Given the description of an element on the screen output the (x, y) to click on. 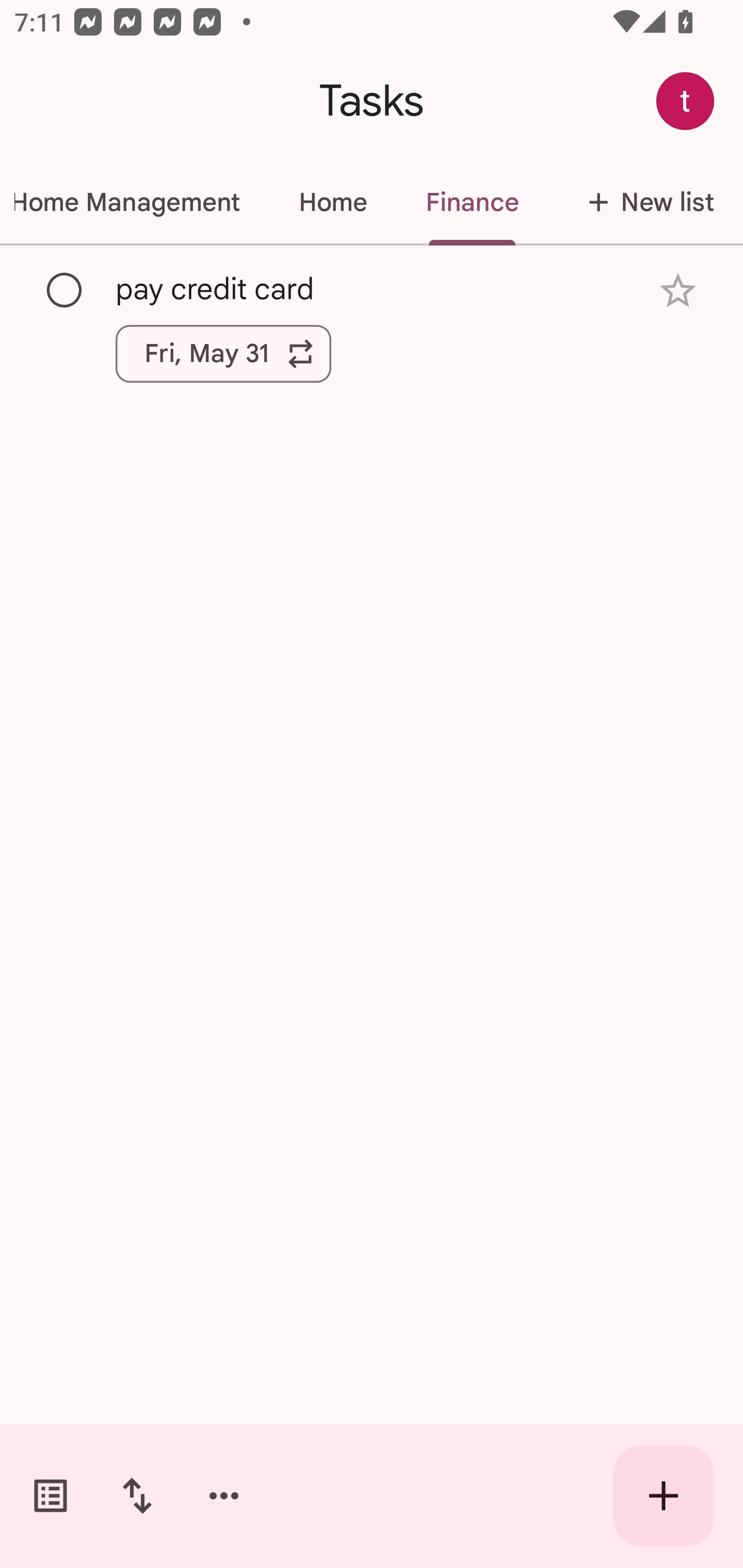
Home Management (134, 202)
Home (332, 202)
New list (645, 202)
Add star (677, 290)
Mark as complete (64, 290)
Fri, May 31 (223, 353)
Switch task lists (50, 1495)
Create new task (663, 1495)
Change sort order (136, 1495)
More options (223, 1495)
